Given the description of an element on the screen output the (x, y) to click on. 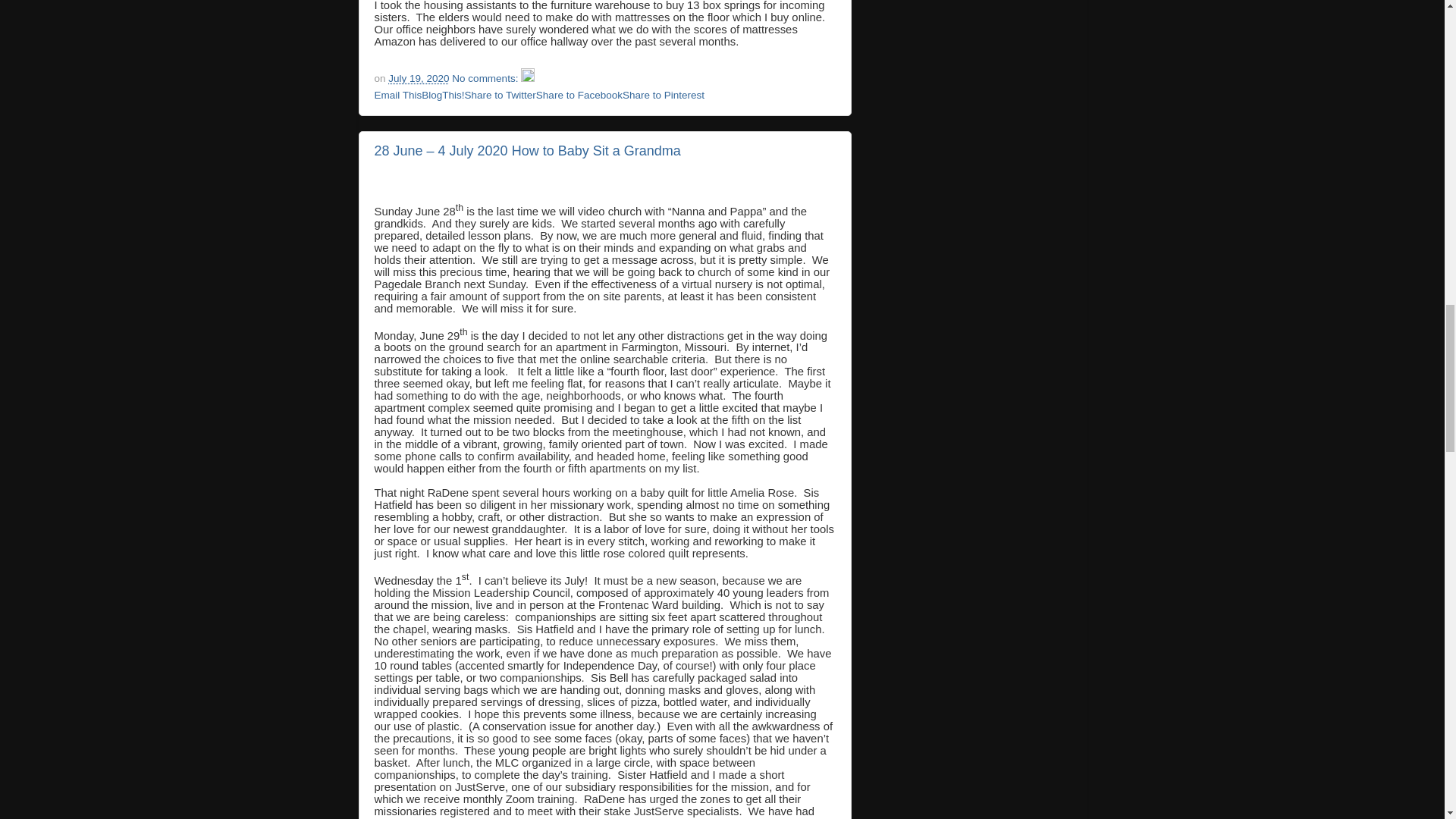
No comments: (486, 78)
Share to Twitter (499, 94)
BlogThis! (443, 94)
Share to Pinterest (663, 94)
Share to Facebook (579, 94)
July 19, 2020 (418, 78)
BlogThis! (443, 94)
permanent link (418, 78)
Email This (398, 94)
Share to Pinterest (663, 94)
Edit Post (527, 78)
Email This (398, 94)
Share to Twitter (499, 94)
Share to Facebook (579, 94)
